Given the description of an element on the screen output the (x, y) to click on. 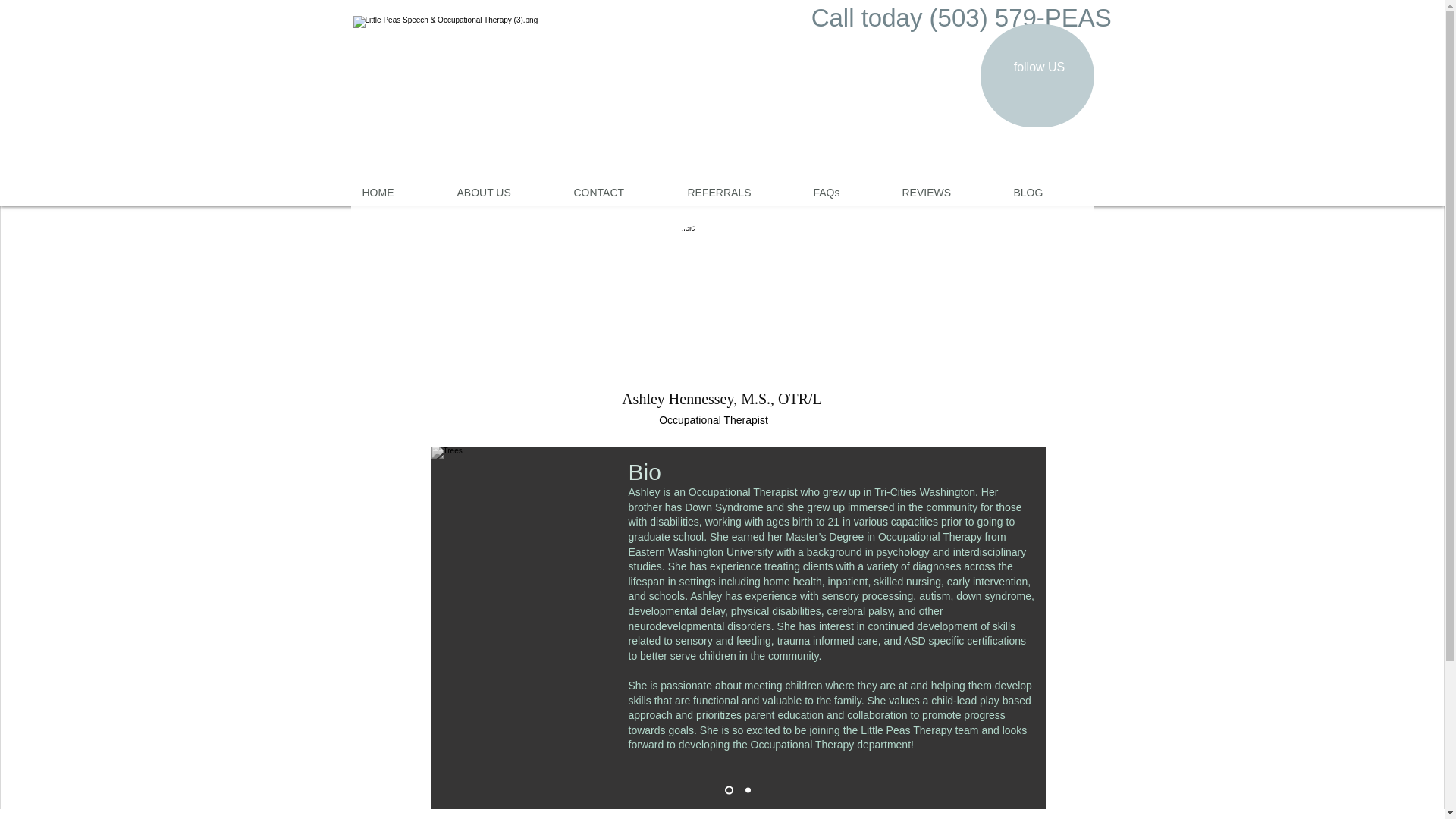
BLOG (1048, 192)
REFERRALS (739, 192)
ABOUT US (503, 192)
HOME (397, 192)
REVIEWS (945, 192)
CONTACT (619, 192)
FAQs (846, 192)
